Given the description of an element on the screen output the (x, y) to click on. 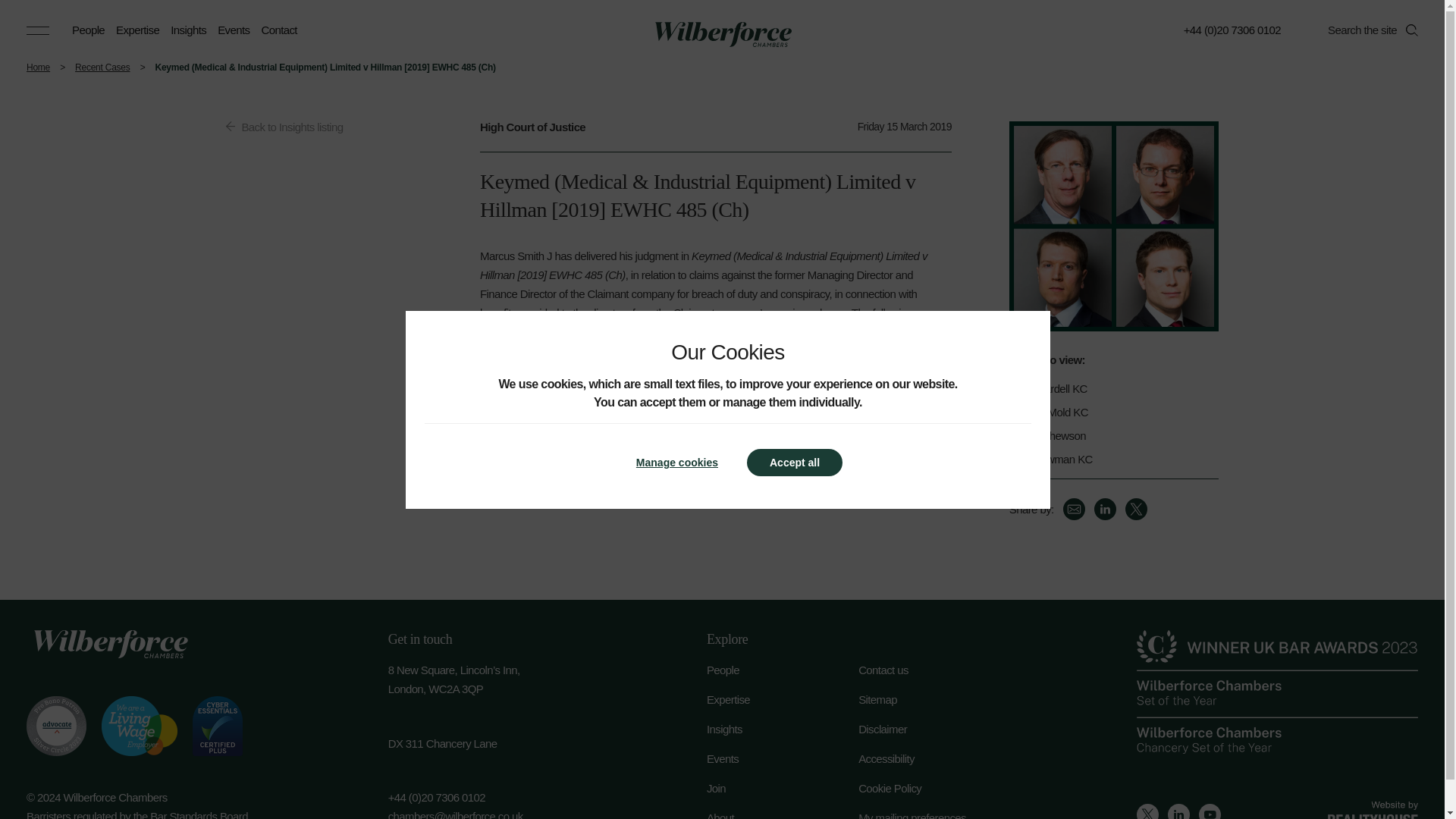
here (688, 407)
Email (1073, 508)
Sitemap (934, 699)
Events (232, 29)
Cookie Policy (934, 788)
Disclaimer (934, 729)
People (87, 29)
Expertise (782, 699)
Andrew Mold KC (1106, 412)
About (782, 814)
Insights (188, 29)
Accessibility (934, 758)
Wilberforce Chambers (721, 34)
John Wardell KC (1106, 388)
Events (782, 758)
